Given the description of an element on the screen output the (x, y) to click on. 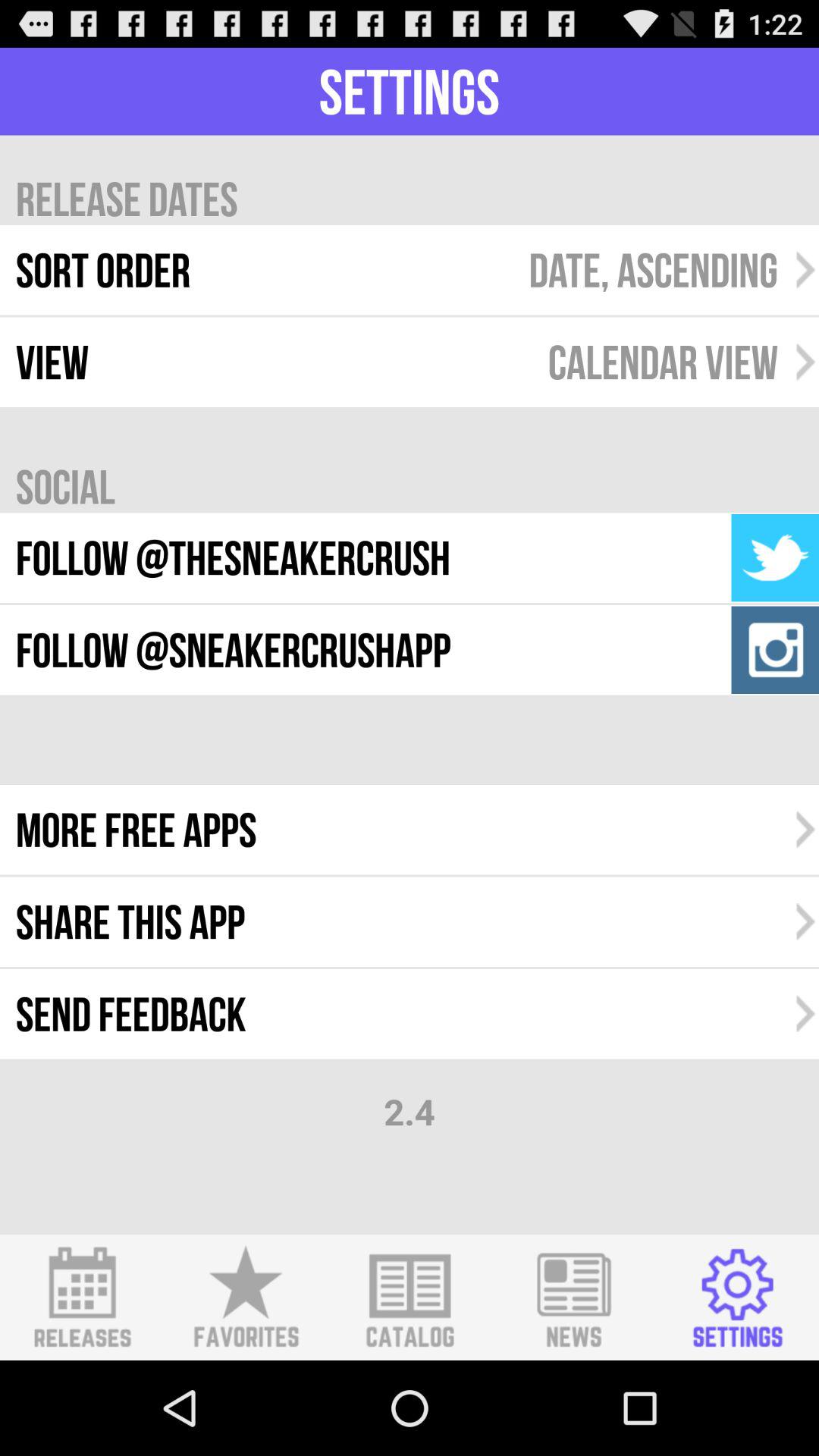
open releases calendar view (81, 1297)
